Given the description of an element on the screen output the (x, y) to click on. 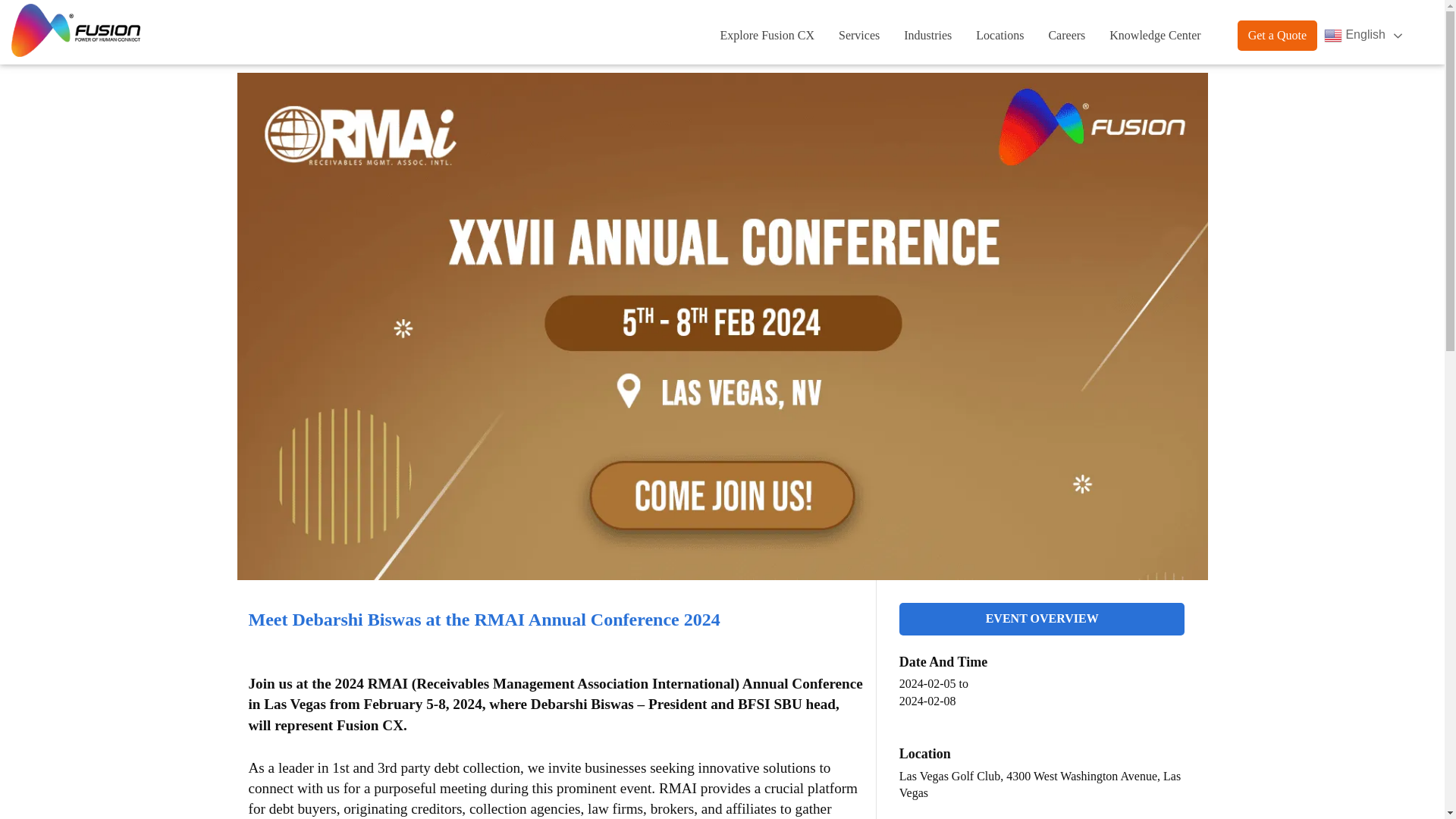
Explore Fusion CX (767, 35)
Industries (927, 35)
Services (858, 35)
